Given the description of an element on the screen output the (x, y) to click on. 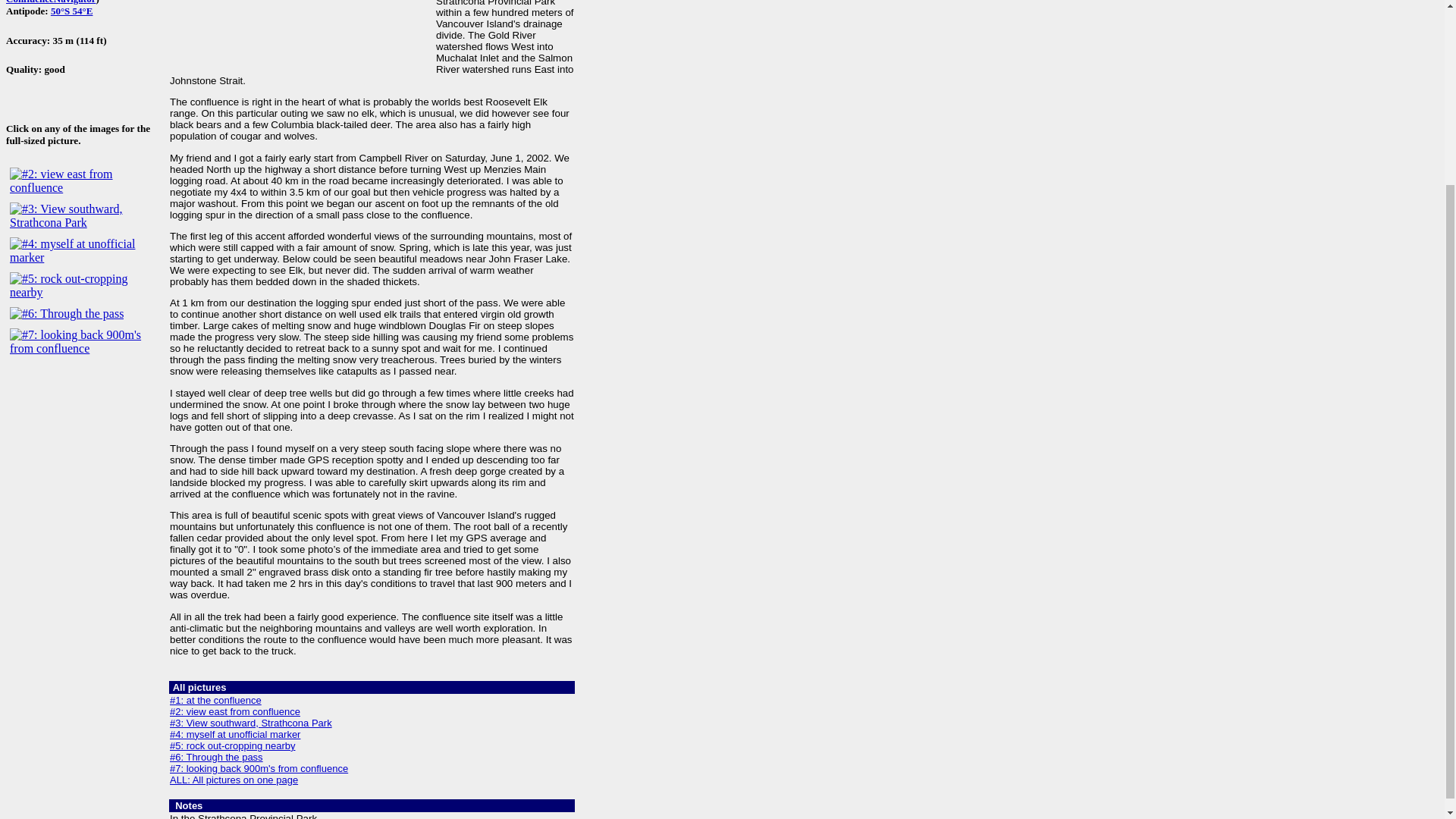
ConfluenceNavigator (50, 2)
The confluence opposite this confluence on the globe (71, 10)
